Given the description of an element on the screen output the (x, y) to click on. 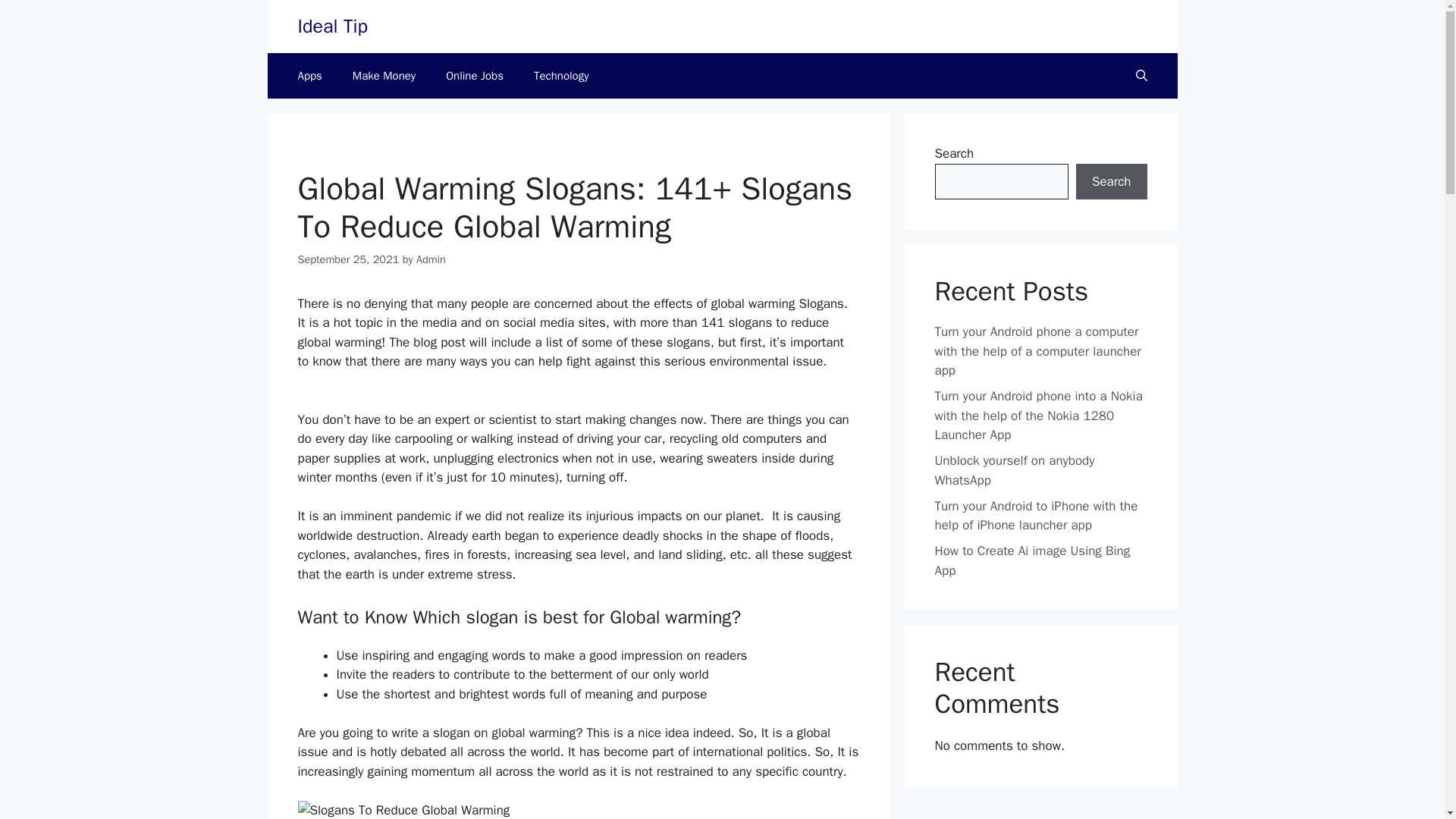
Ideal Tip (331, 25)
View all posts by Admin (430, 259)
Make Money (383, 75)
Apps (309, 75)
Online Jobs (474, 75)
Admin (430, 259)
How to Create Ai image Using Bing App (1031, 560)
Technology (561, 75)
Search (1111, 181)
Unblock yourself on anybody WhatsApp (1014, 470)
